Given the description of an element on the screen output the (x, y) to click on. 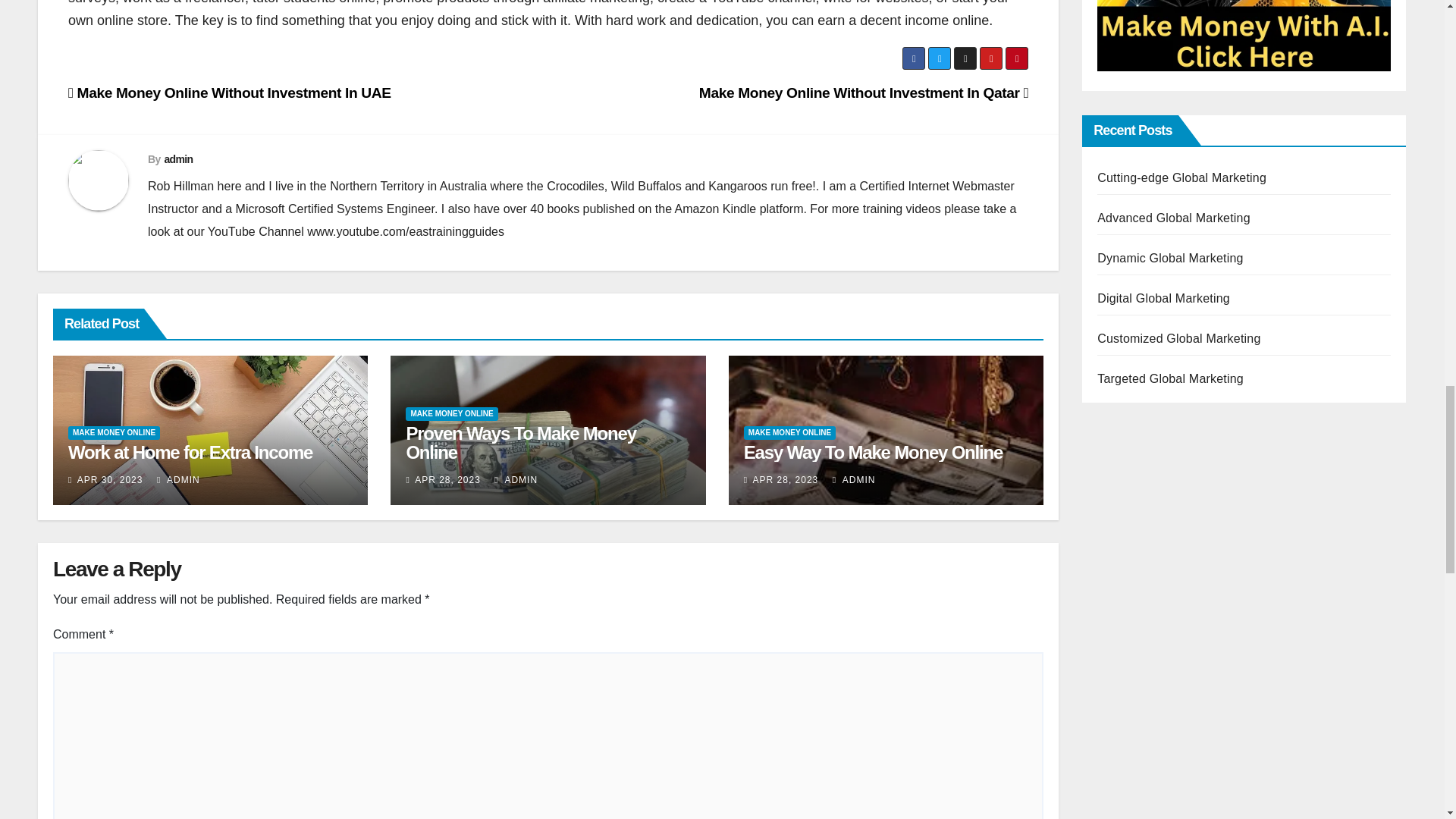
Make Money Online Without Investment In UAE (229, 92)
Permalink to: Easy Way To Make Money Online (873, 452)
ADMIN (516, 480)
Permalink to: Work at Home for Extra Income (190, 452)
APR 28, 2023 (447, 480)
Work at Home for Extra Income (190, 452)
APR 30, 2023 (109, 480)
Permalink to: Proven Ways To Make Money Online (520, 442)
Proven Ways To Make Money Online (520, 442)
ADMIN (178, 480)
MAKE MONEY ONLINE (114, 432)
Easy Way To Make Money Online (873, 452)
Make Money Online Without Investment In Qatar (862, 92)
MAKE MONEY ONLINE (789, 432)
admin (177, 159)
